Given the description of an element on the screen output the (x, y) to click on. 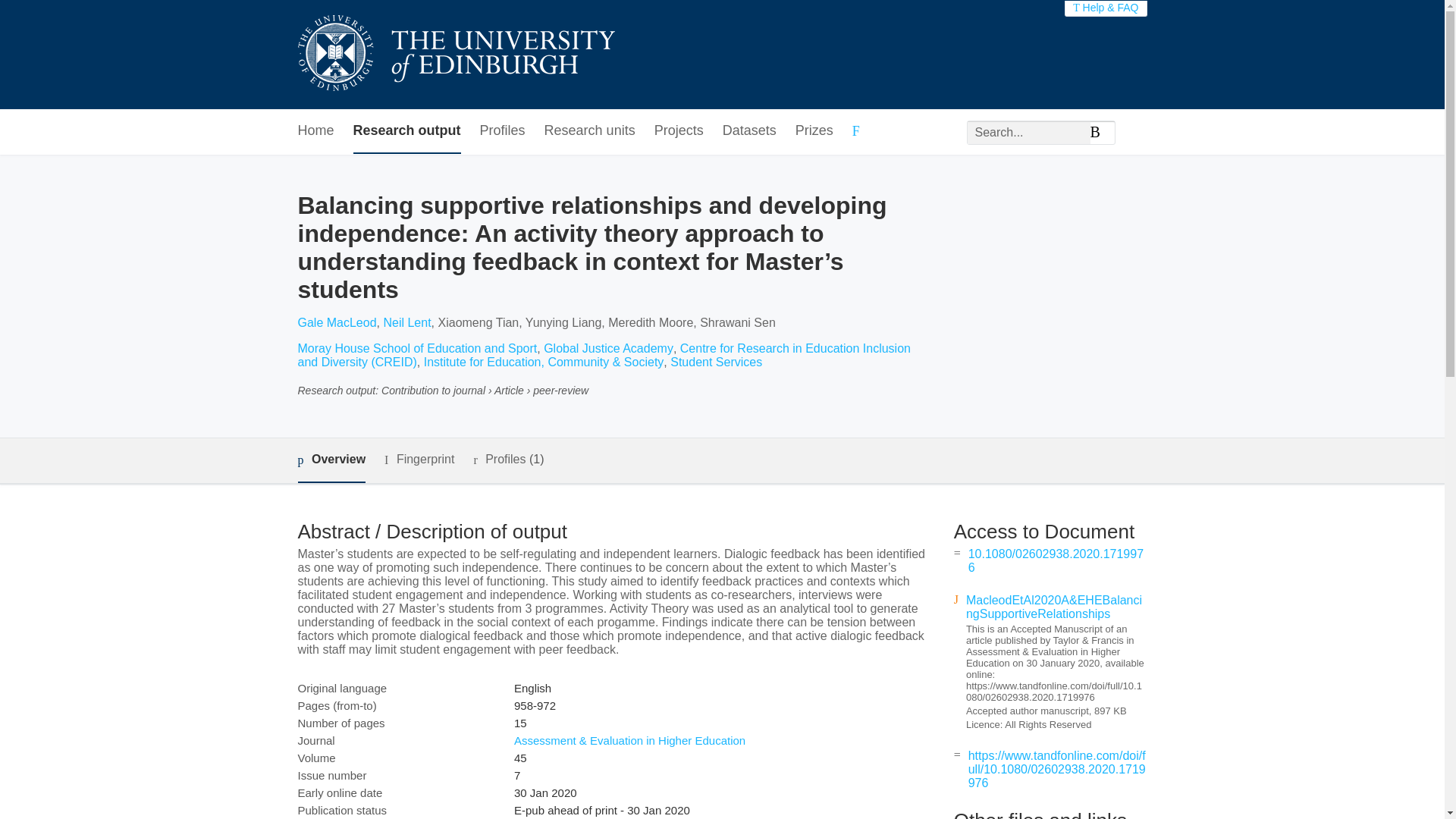
Moray House School of Education and Sport (417, 348)
Profiles (502, 130)
Neil Lent (406, 322)
Research output (407, 130)
University of Edinburgh Research Explorer Home (455, 54)
Gale MacLeod (336, 322)
Fingerprint (419, 459)
Overview (331, 460)
Projects (678, 130)
